Given the description of an element on the screen output the (x, y) to click on. 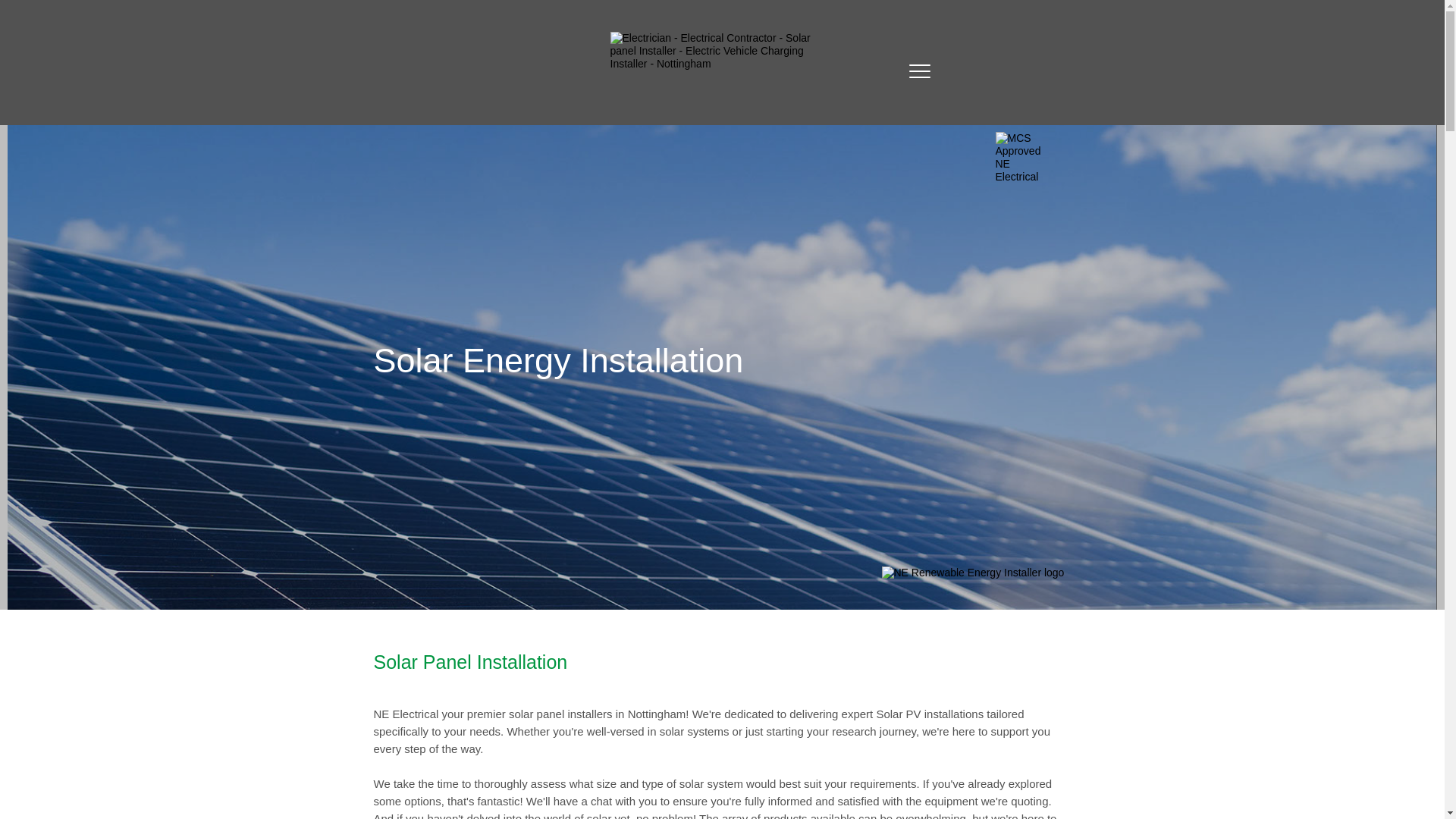
NE Renewable Energy Installer  (975, 582)
